Given the description of an element on the screen output the (x, y) to click on. 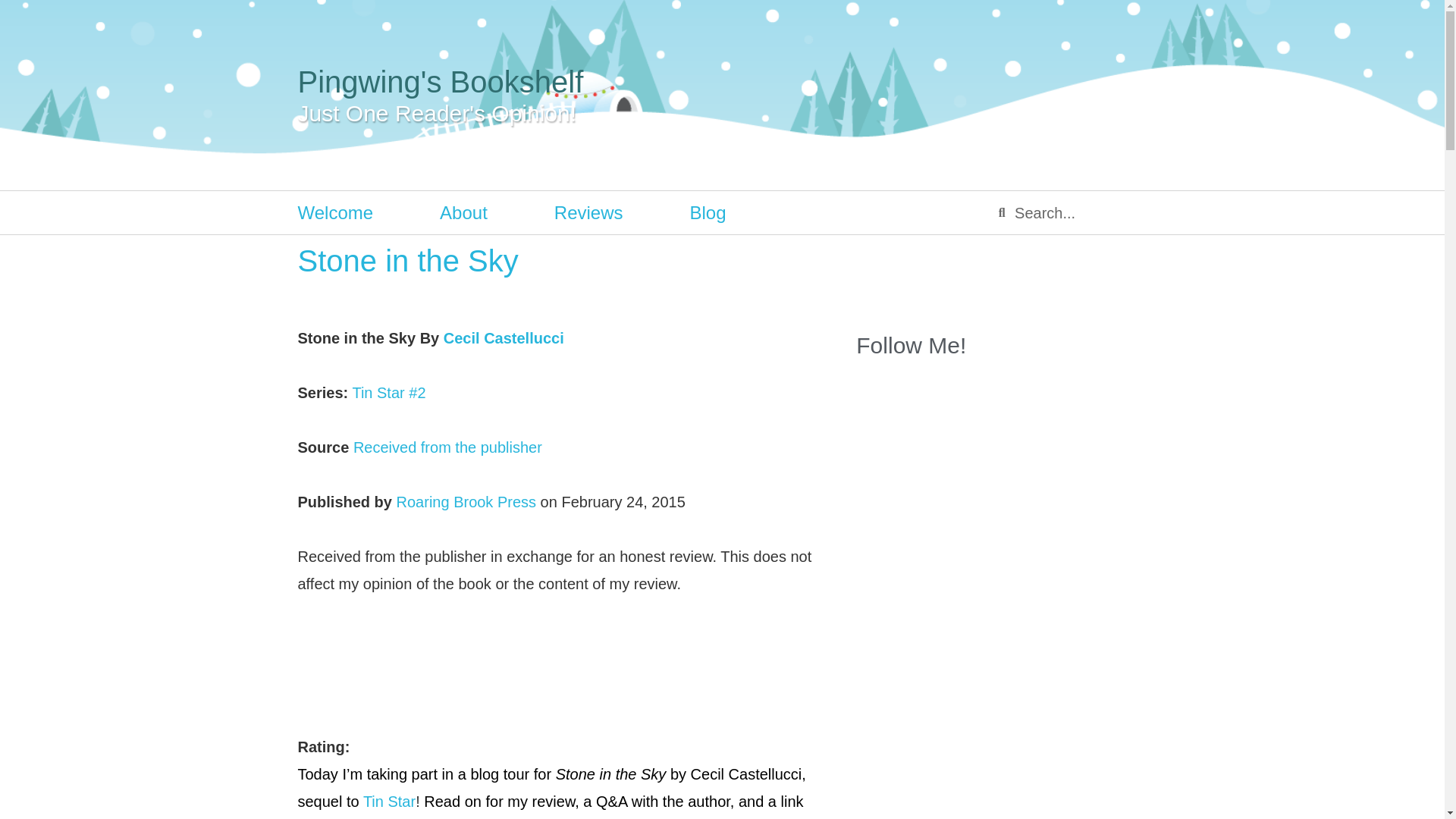
Blog (708, 212)
Reviews (588, 212)
Pingwing's Bookshelf (440, 81)
Welcome (334, 212)
About (463, 212)
Tin Star (388, 801)
Stone in the Sky (704, 381)
